Given the description of an element on the screen output the (x, y) to click on. 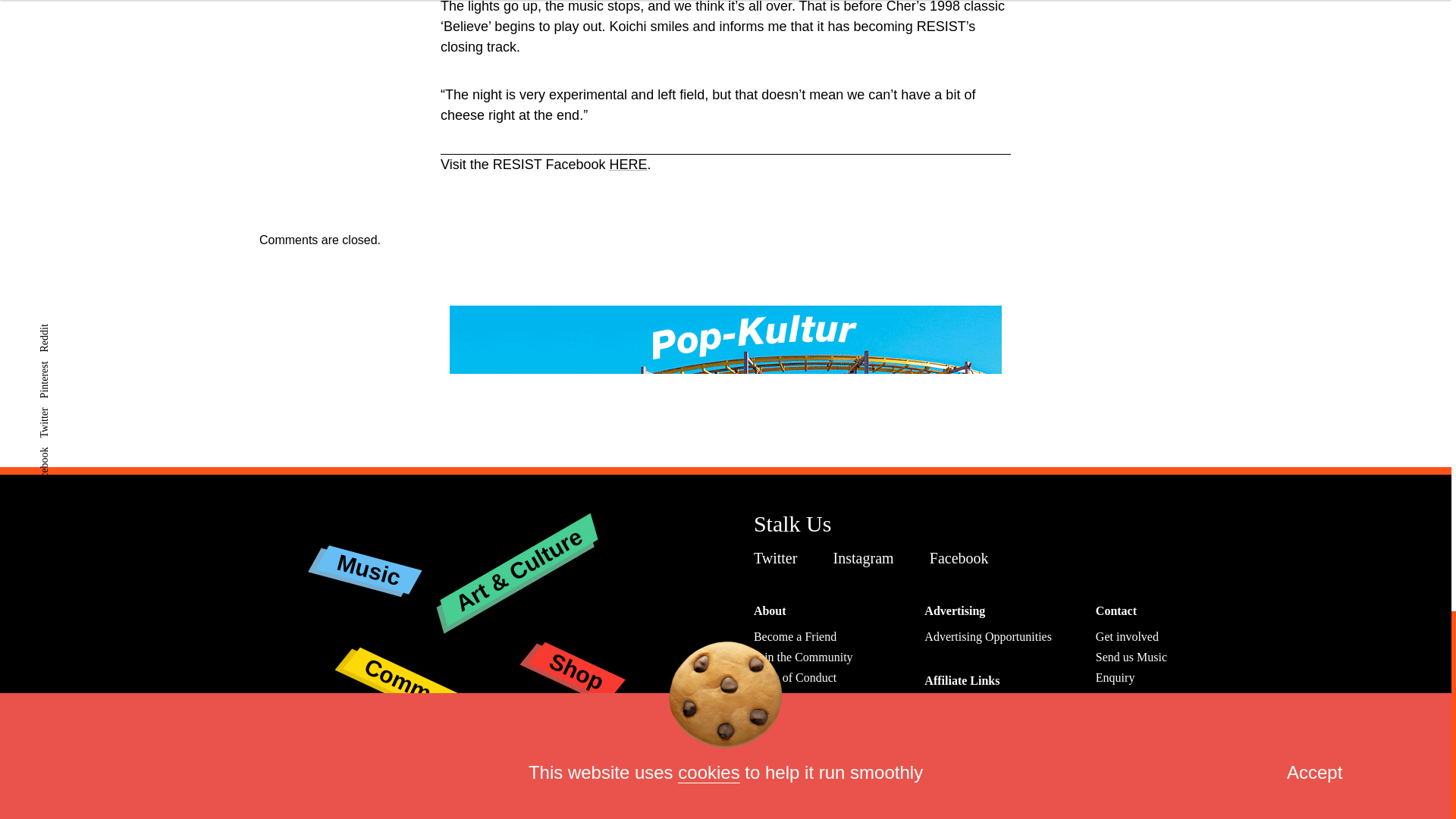
HERE (627, 164)
Music (366, 557)
Instagram (866, 558)
Twitter (779, 558)
Facebook (962, 558)
About (770, 610)
Get involved (1127, 635)
Contact (1116, 610)
Shop (575, 653)
Send us Music (1131, 656)
Enquiry (1115, 676)
Commentary (431, 659)
